Given the description of an element on the screen output the (x, y) to click on. 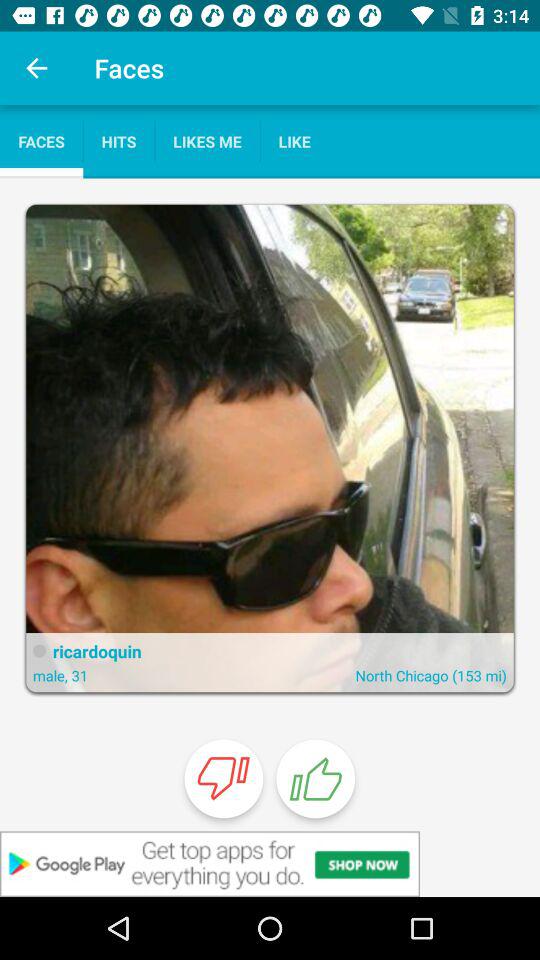
google play advertisement (270, 864)
